Given the description of an element on the screen output the (x, y) to click on. 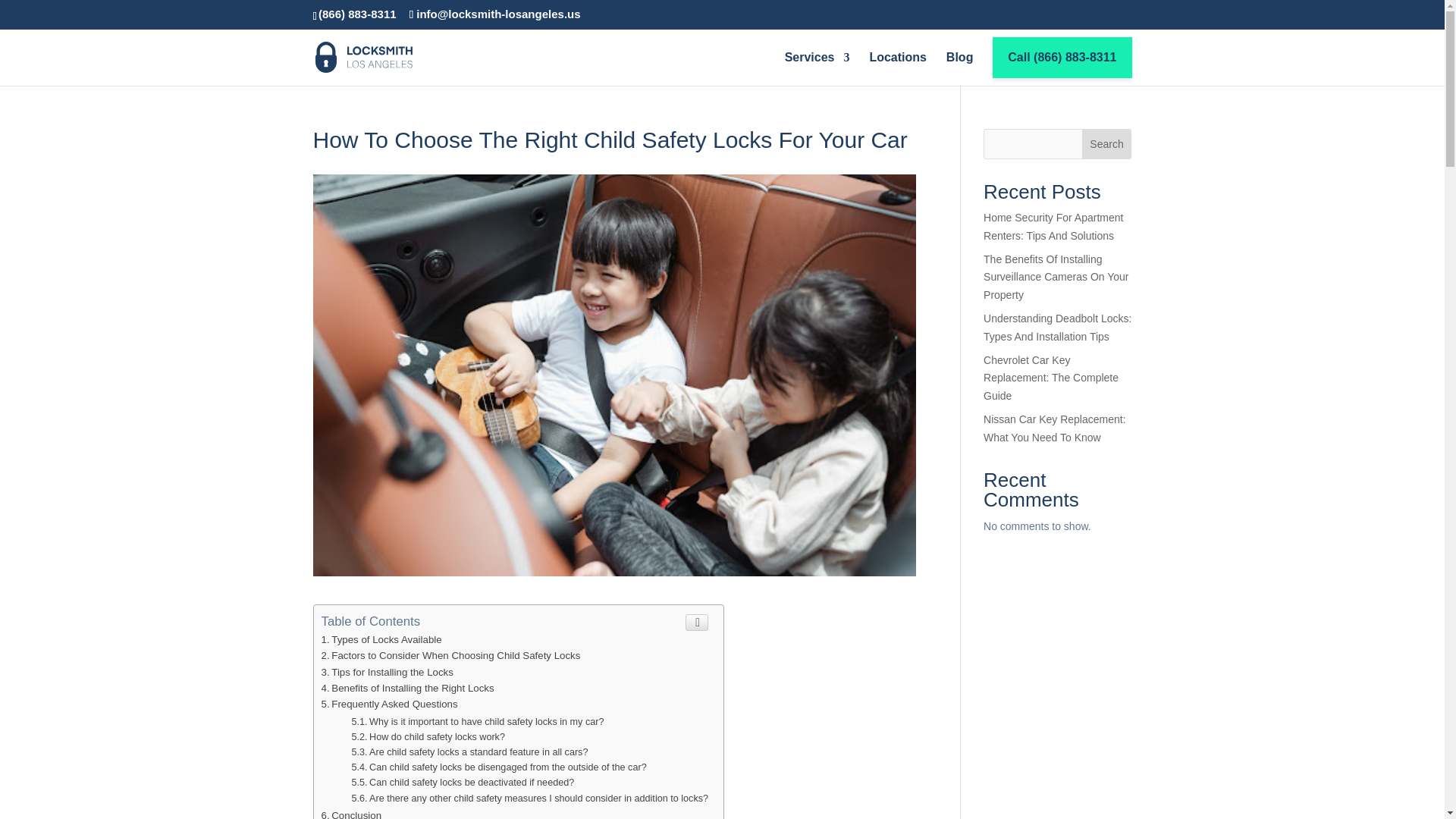
Types of Locks Available (381, 639)
Conclusion (351, 814)
Tips for Installing the Locks (386, 672)
Can child safety locks be deactivated if needed? (461, 782)
Frequently Asked Questions (389, 704)
Frequently Asked Questions (389, 704)
Why is it important to have child safety locks in my car? (477, 720)
Can child safety locks be deactivated if needed? (461, 782)
Benefits of Installing the Right Locks (408, 687)
